Given the description of an element on the screen output the (x, y) to click on. 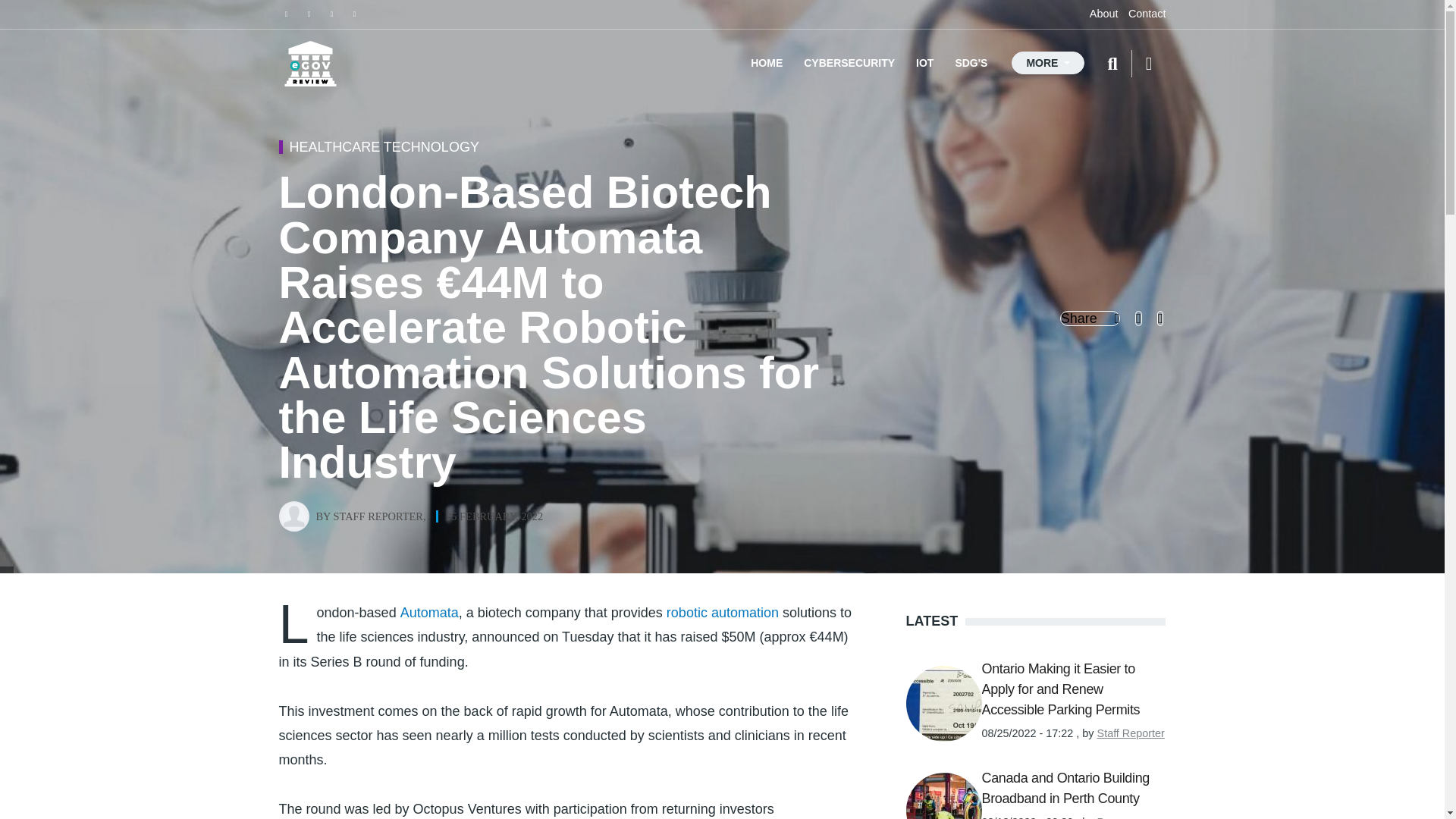
MORE (1047, 62)
IOT (924, 63)
HOME (766, 63)
View user profile. (378, 516)
Share on Twitter (1090, 318)
View user profile. (1052, 817)
View user profile. (1130, 733)
About (1103, 13)
Home (310, 63)
SDG'S (970, 63)
HEALTHCARE TECHNOLOGY (384, 146)
STAFF REPORTER (378, 516)
Contact (1147, 13)
CYBERSECURITY (849, 63)
